Given the description of an element on the screen output the (x, y) to click on. 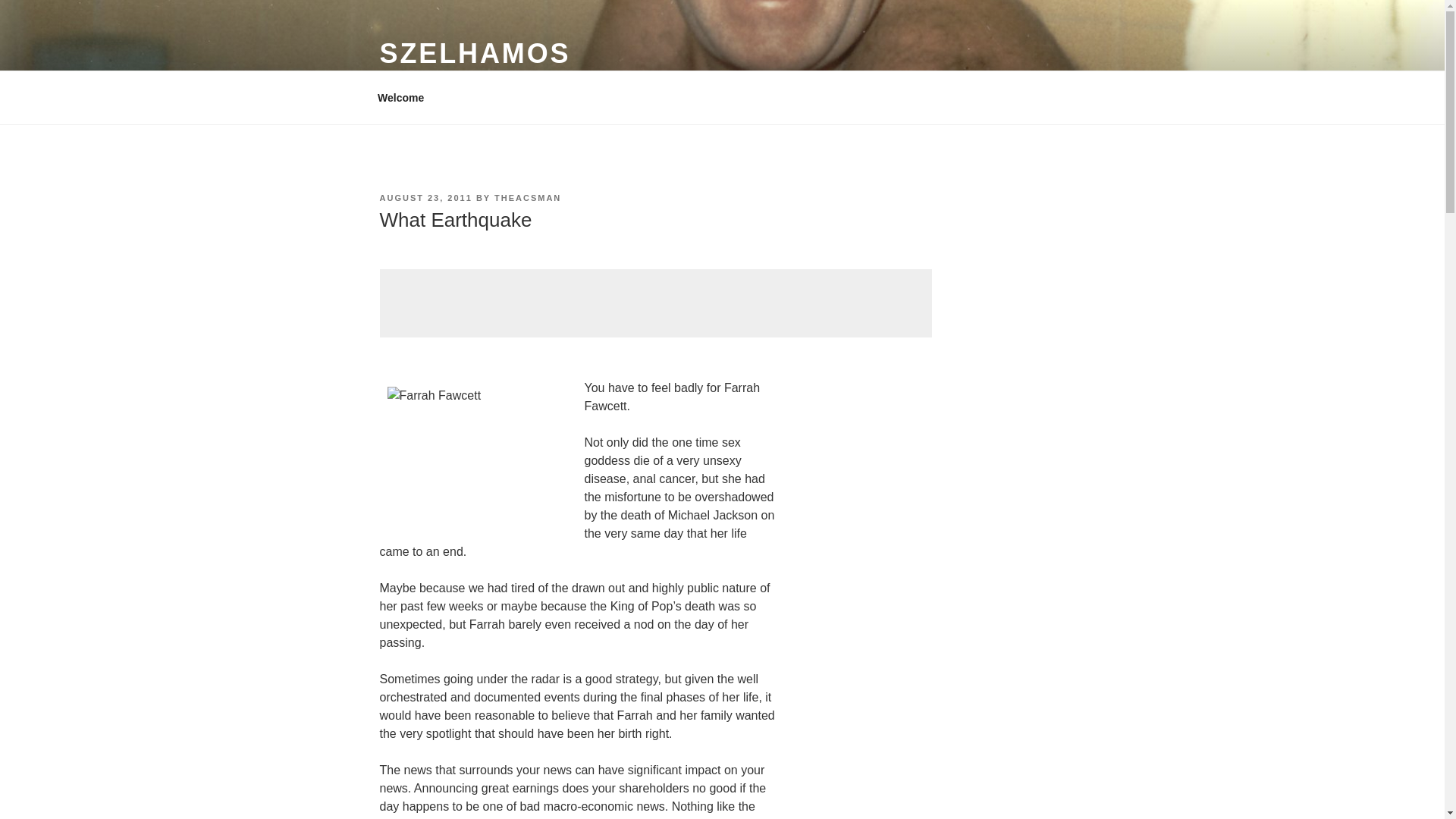
Farah Fawcett (481, 456)
THEACSMAN (527, 197)
AUGUST 23, 2011 (424, 197)
Welcome (400, 97)
SZELHAMOS (474, 52)
